Given the description of an element on the screen output the (x, y) to click on. 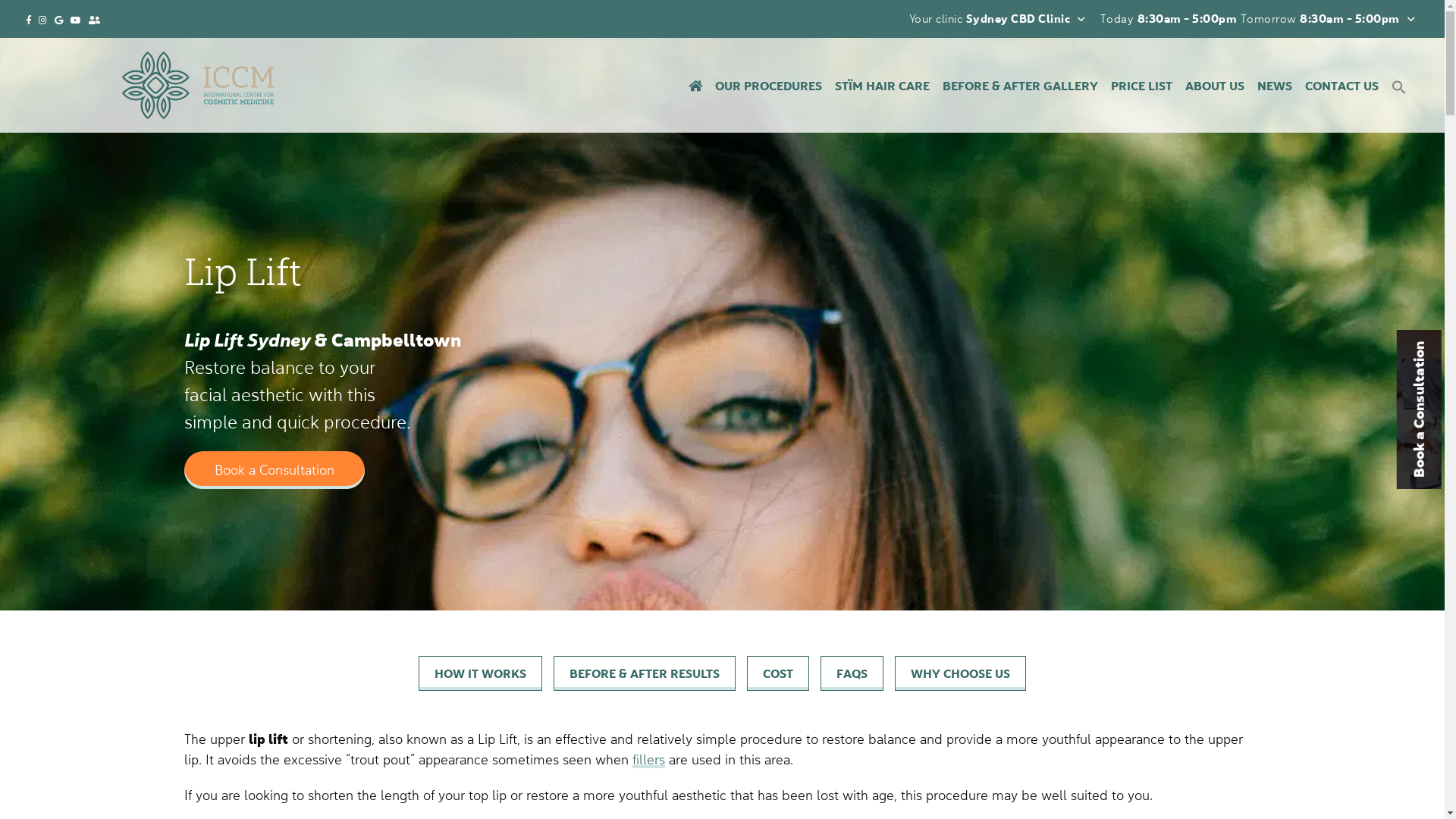
PRICE LIST Element type: text (1141, 85)
HOW IT WORKS Element type: text (480, 672)
COST Element type: text (777, 672)
WHY CHOOSE US Element type: text (960, 672)
Book a Consultation Element type: text (273, 470)
CONTACT US Element type: text (1341, 85)
NEWS Element type: text (1274, 85)
svg asset Element type: hover (197, 85)
OUR PROCEDURES Element type: text (768, 85)
fillers Element type: text (648, 759)
ABOUT US Element type: text (1214, 85)
FAQS Element type: text (851, 672)
FACE Element type: text (246, 19)
HOME Element type: text (196, 19)
BEFORE & AFTER RESULTS Element type: text (644, 672)
BEFORE & AFTER GALLERY Element type: text (1020, 85)
